Given the description of an element on the screen output the (x, y) to click on. 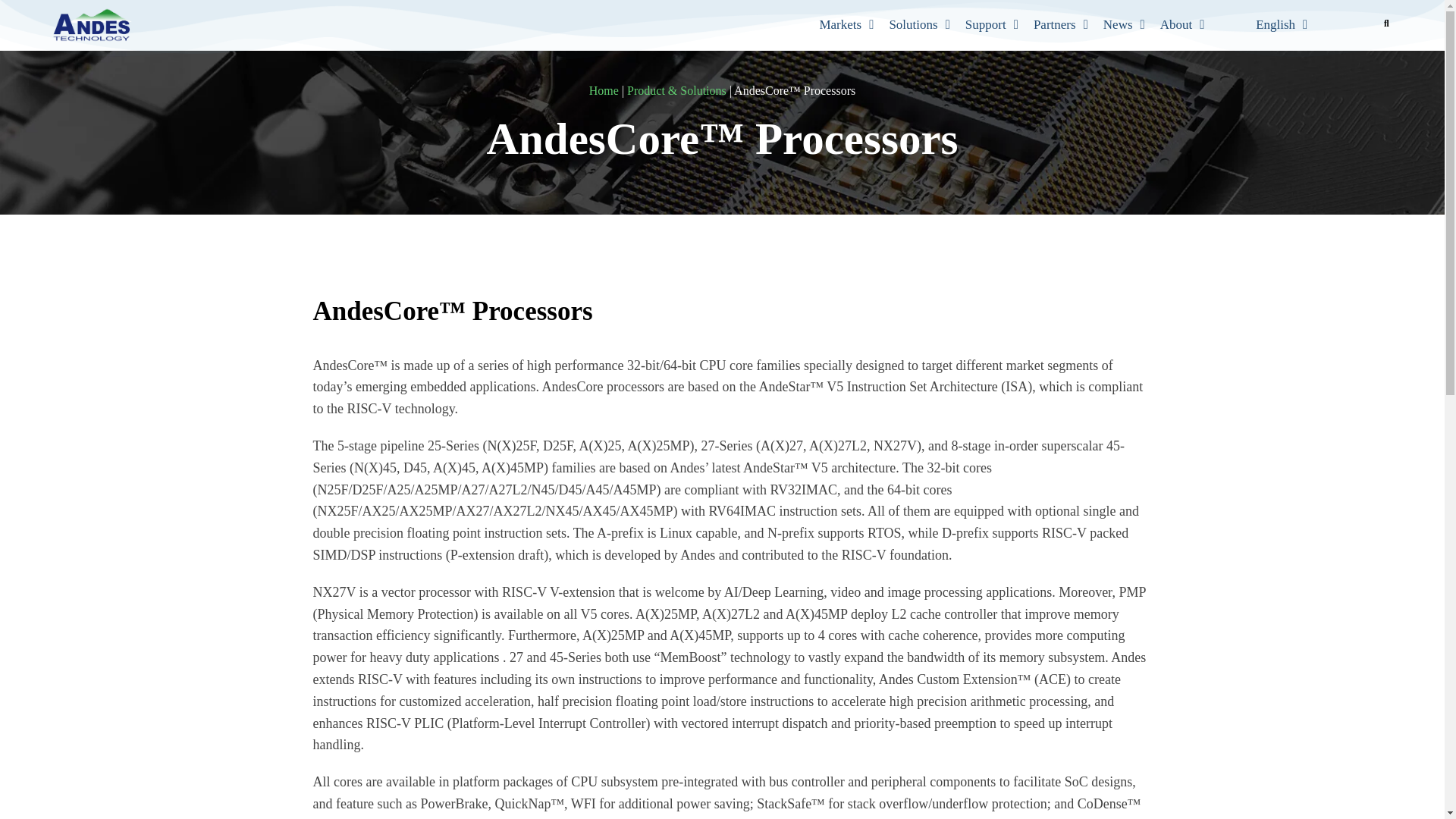
Solutions (918, 24)
Markets (845, 24)
